Given the description of an element on the screen output the (x, y) to click on. 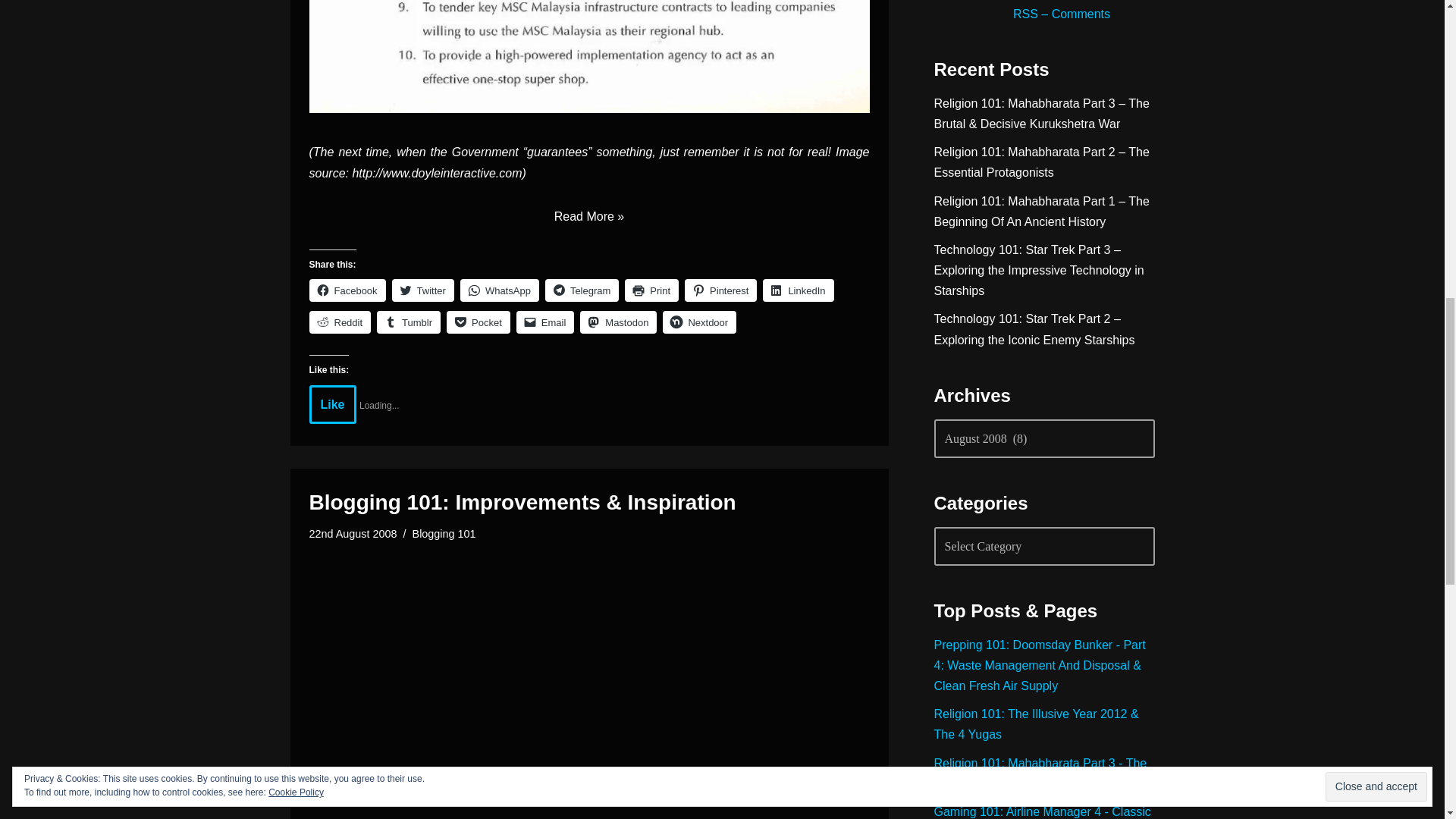
Click to share on Facebook (346, 290)
Click to share on WhatsApp (499, 290)
Click to share on Reddit (339, 322)
Nextdoor (699, 322)
Click to share on Pinterest (720, 290)
Facebook (346, 290)
Pinterest (720, 290)
Email (545, 322)
LinkedIn (797, 290)
Blogging 101 (444, 533)
Click to share on Tumblr (409, 322)
WhatsApp (499, 290)
Click to share on Mastodon (617, 322)
Click to share on Telegram (581, 290)
Telegram (581, 290)
